Given the description of an element on the screen output the (x, y) to click on. 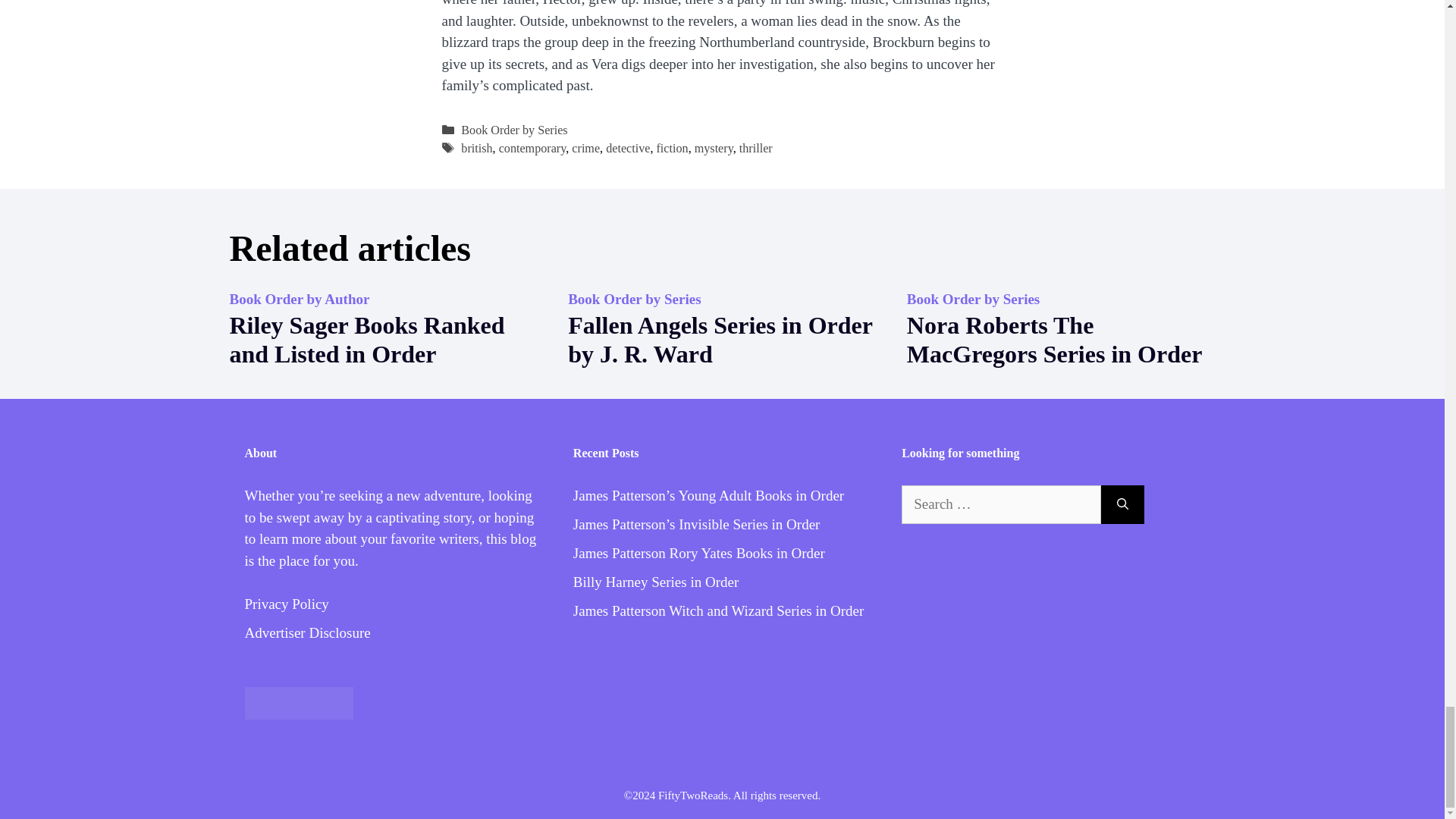
Search for: (1000, 504)
